Given the description of an element on the screen output the (x, y) to click on. 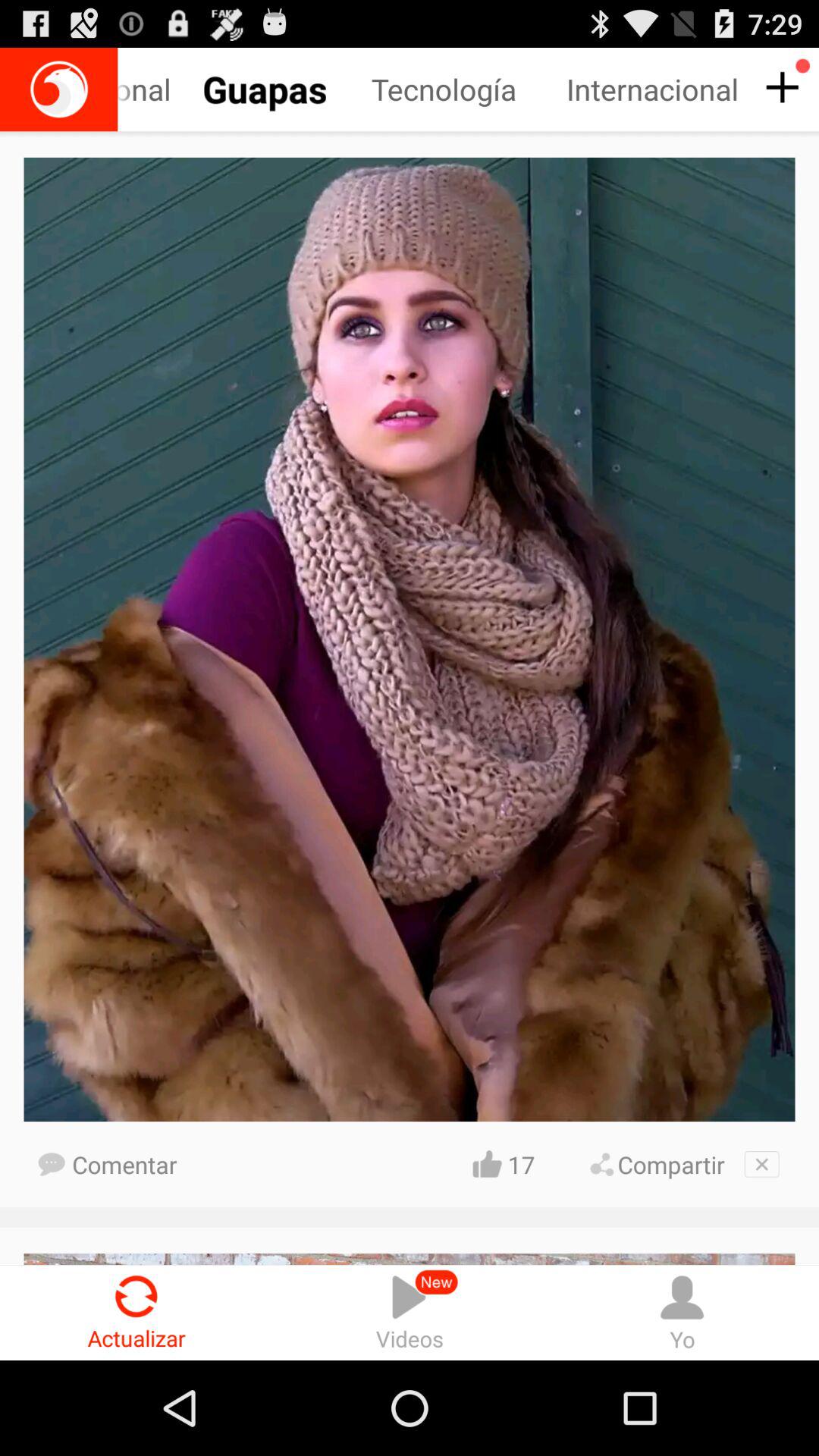
the button is used to close the page (761, 1164)
